Given the description of an element on the screen output the (x, y) to click on. 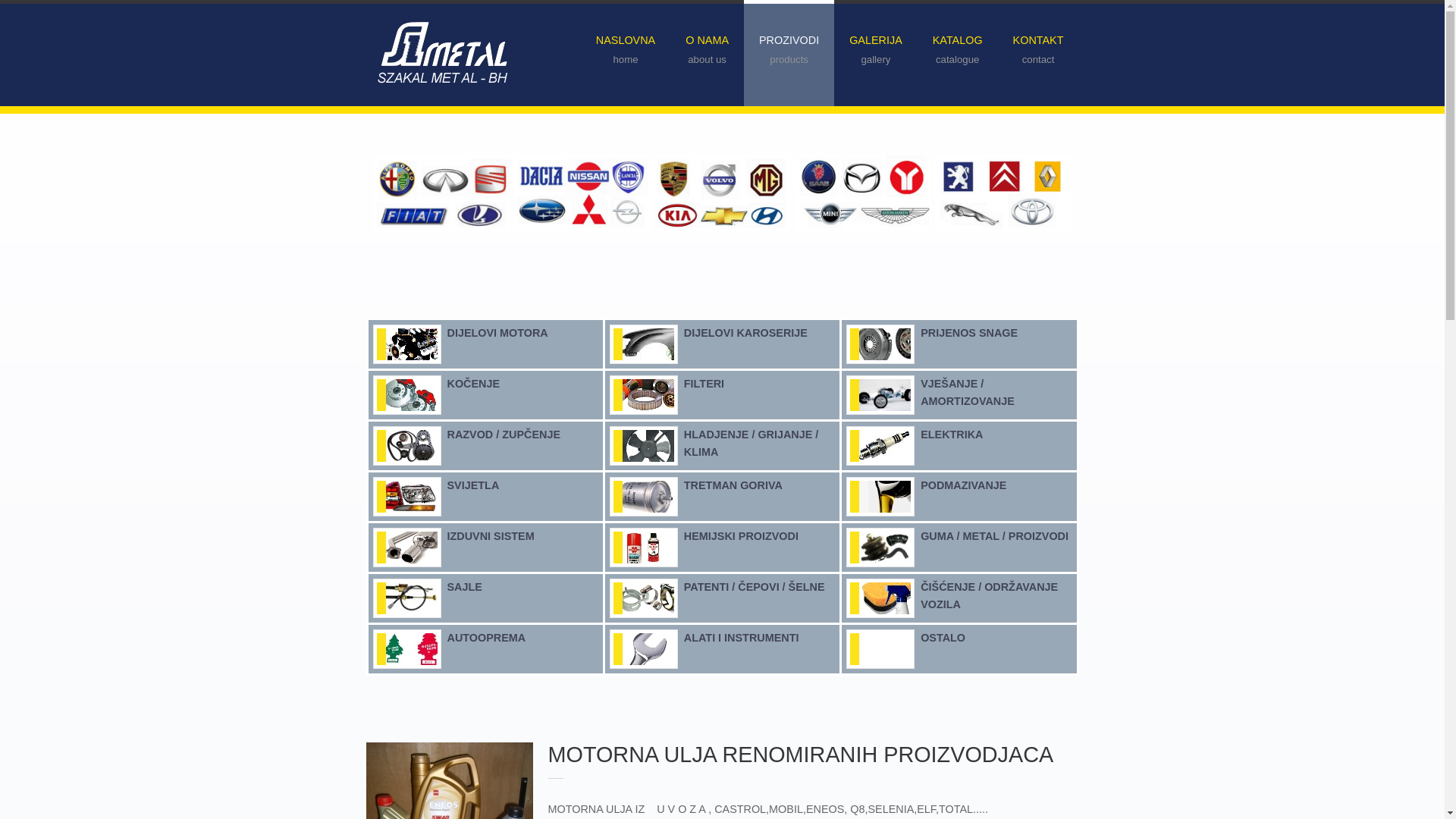
DIJELOVI MOTORA Element type: text (497, 332)
GUMA / METAL / PROIZVODI Element type: text (994, 536)
PODMAZIVANJE Element type: text (963, 485)
HLADJENJE / GRIJANJE / KLIMA Element type: text (751, 443)
KATALOG
catalogue Element type: text (957, 60)
PROZIVODI
products Element type: text (788, 60)
SAJLE Element type: text (464, 586)
TRETMAN GORIVA Element type: text (733, 485)
OSTALO Element type: text (942, 637)
IZDUVNI SISTEM Element type: text (490, 536)
O NAMA
about us Element type: text (706, 60)
MOTORNA ULJA RENOMIRANIH PROIZVODJACA Element type: text (800, 754)
GALERIJA
gallery Element type: text (875, 60)
DIJELOVI KAROSERIJE Element type: text (745, 332)
PRIJENOS SNAGE Element type: text (968, 332)
NASLOVNA
home Element type: text (625, 60)
SVIJETLA Element type: text (473, 485)
ELEKTRIKA Element type: text (951, 434)
FILTERI Element type: text (704, 383)
AUTOOPREMA Element type: text (486, 637)
KONTAKT
contact Element type: text (1038, 60)
HEMIJSKI PROIZVODI Element type: text (741, 536)
Szakal Met Al BH Element type: hover (442, 54)
ALATI I INSTRUMENTI Element type: text (741, 637)
